Given the description of an element on the screen output the (x, y) to click on. 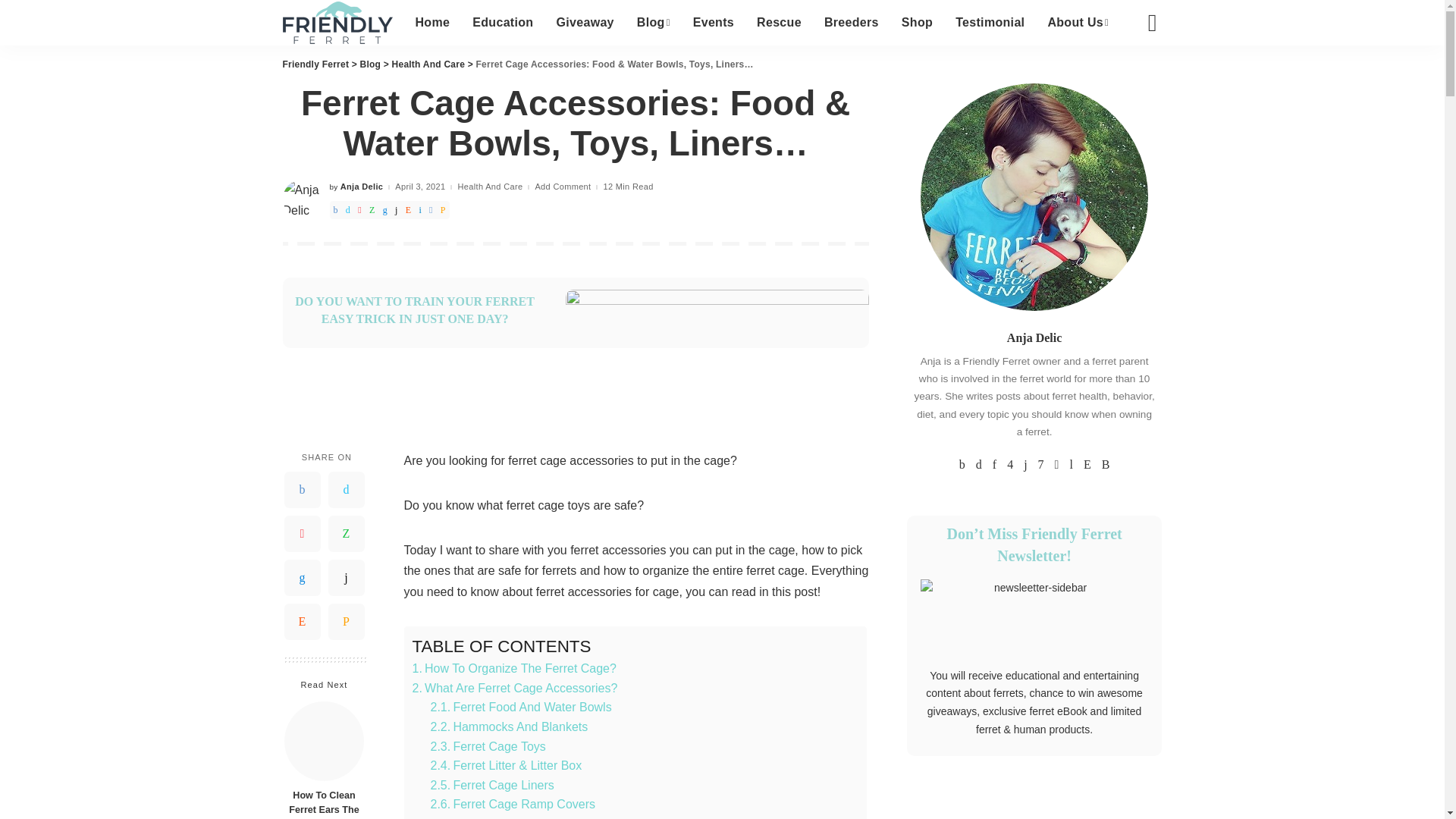
Go to the Health And Care Category archives. (428, 63)
Friendly Ferret (336, 22)
Go to Blog. (370, 63)
Home (432, 22)
Giveaway (584, 22)
Blog (653, 22)
Education (502, 22)
Go to Friendly Ferret. (315, 63)
